Given the description of an element on the screen output the (x, y) to click on. 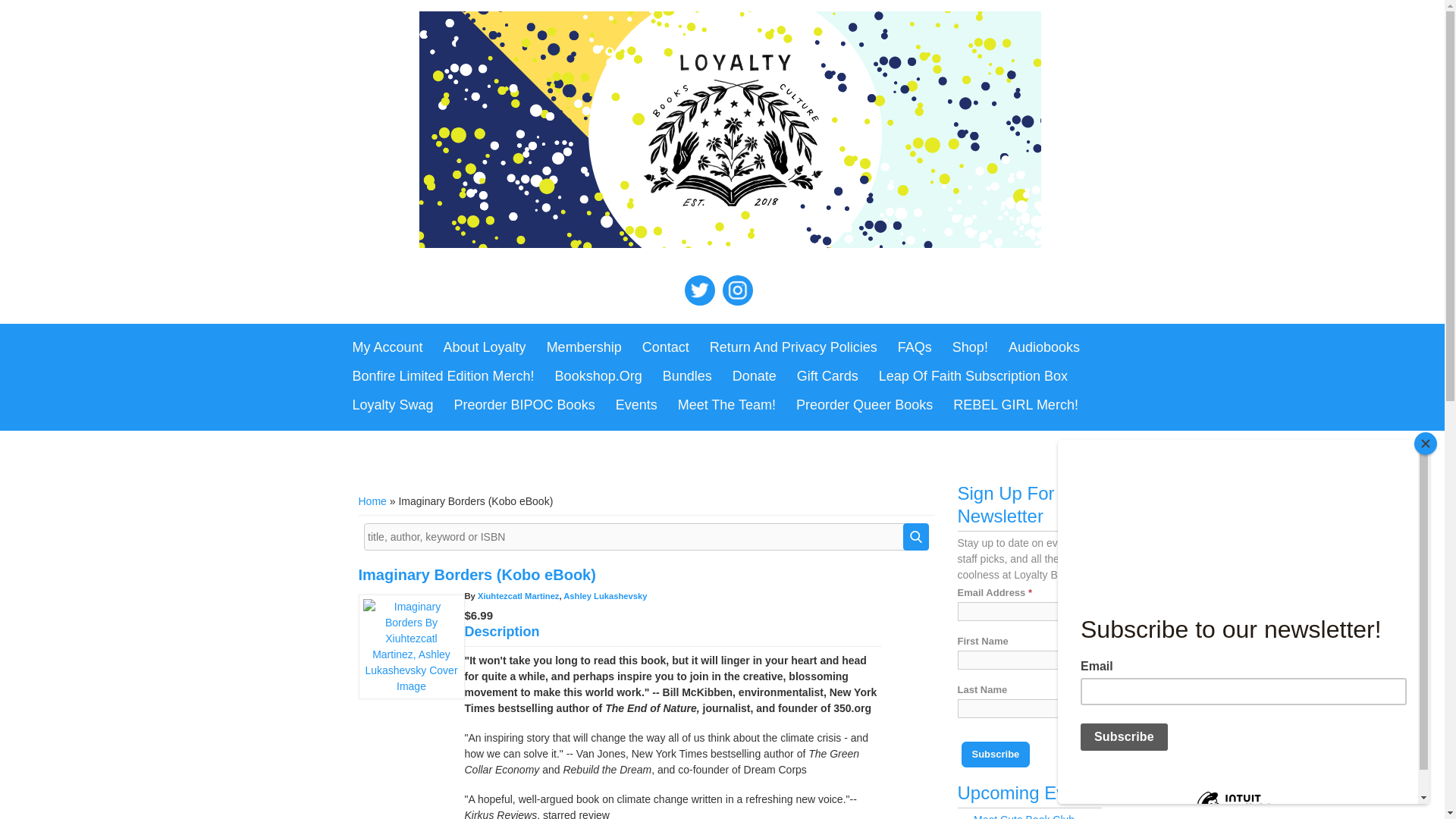
Subscribe (995, 754)
Subscribe (995, 754)
About Loyalty (484, 347)
Shop! (970, 347)
Enter the terms you wish to search for. (646, 536)
Membership (583, 347)
Leap Of Faith Subscription Box (973, 376)
FAQs (914, 347)
Home (371, 500)
Return And Privacy Policies (793, 347)
Gift Cards (827, 376)
Ashley Lukashevsky (604, 595)
Search (915, 536)
Loyalty Swag (392, 405)
